Given the description of an element on the screen output the (x, y) to click on. 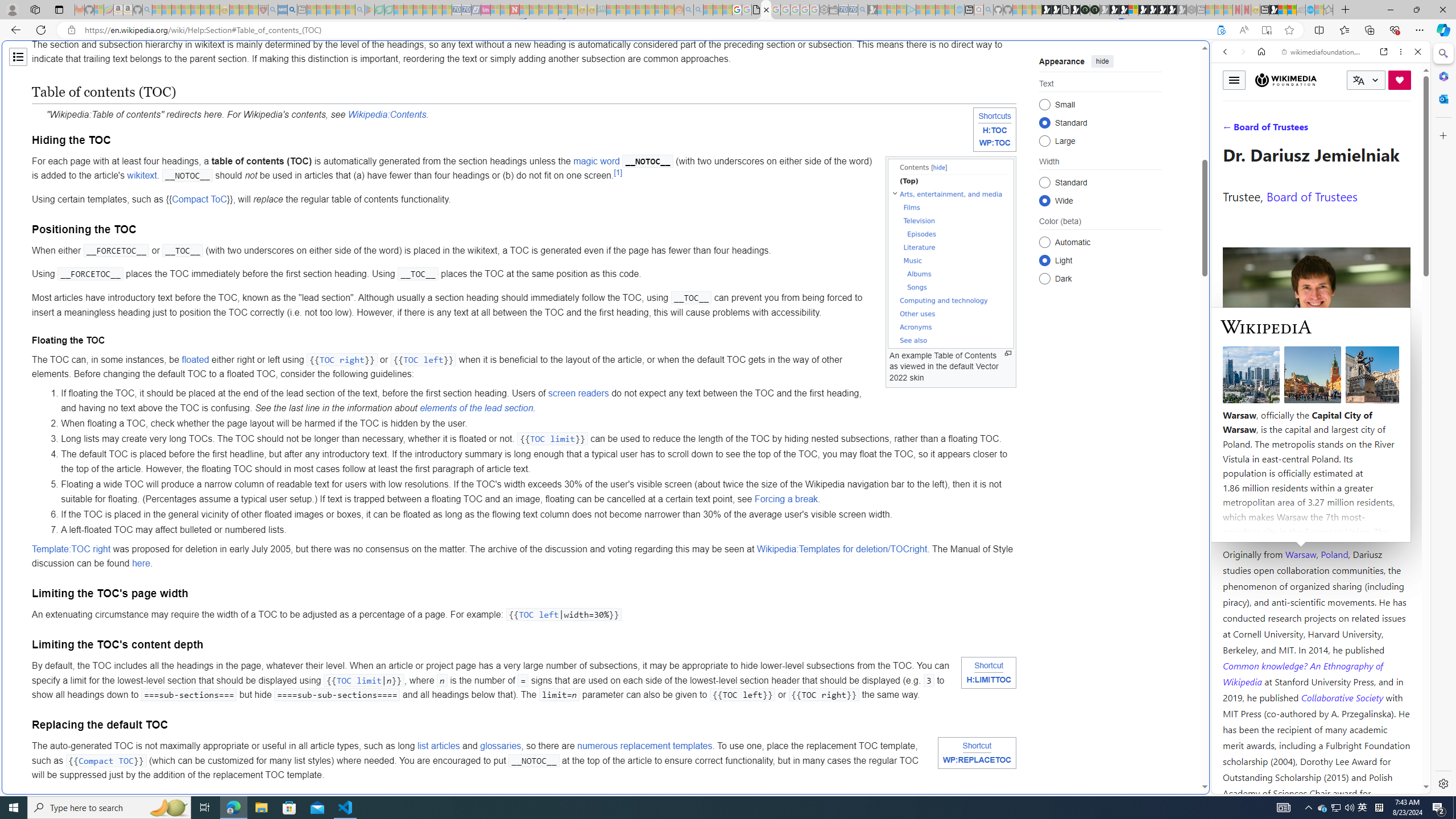
TOC limit (358, 680)
Play Cave FRVR in your browser | Games from Microsoft Start (922, 242)
Class: mw-list-item mw-list-item-js (1100, 259)
[1] (616, 172)
Wikimedia Foundation (1285, 79)
